Given the description of an element on the screen output the (x, y) to click on. 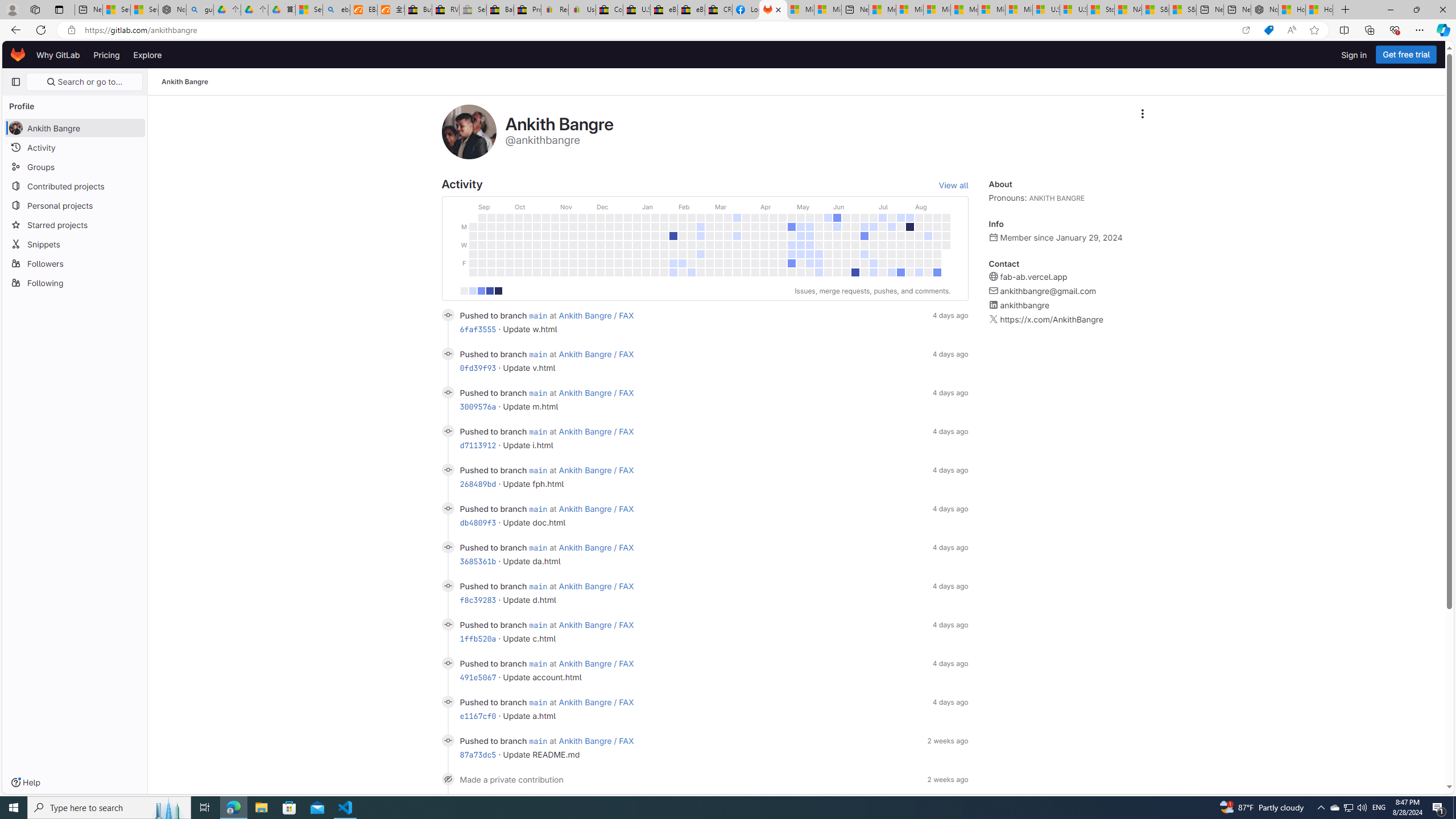
Shopping in Microsoft Edge (1268, 29)
